Given the description of an element on the screen output the (x, y) to click on. 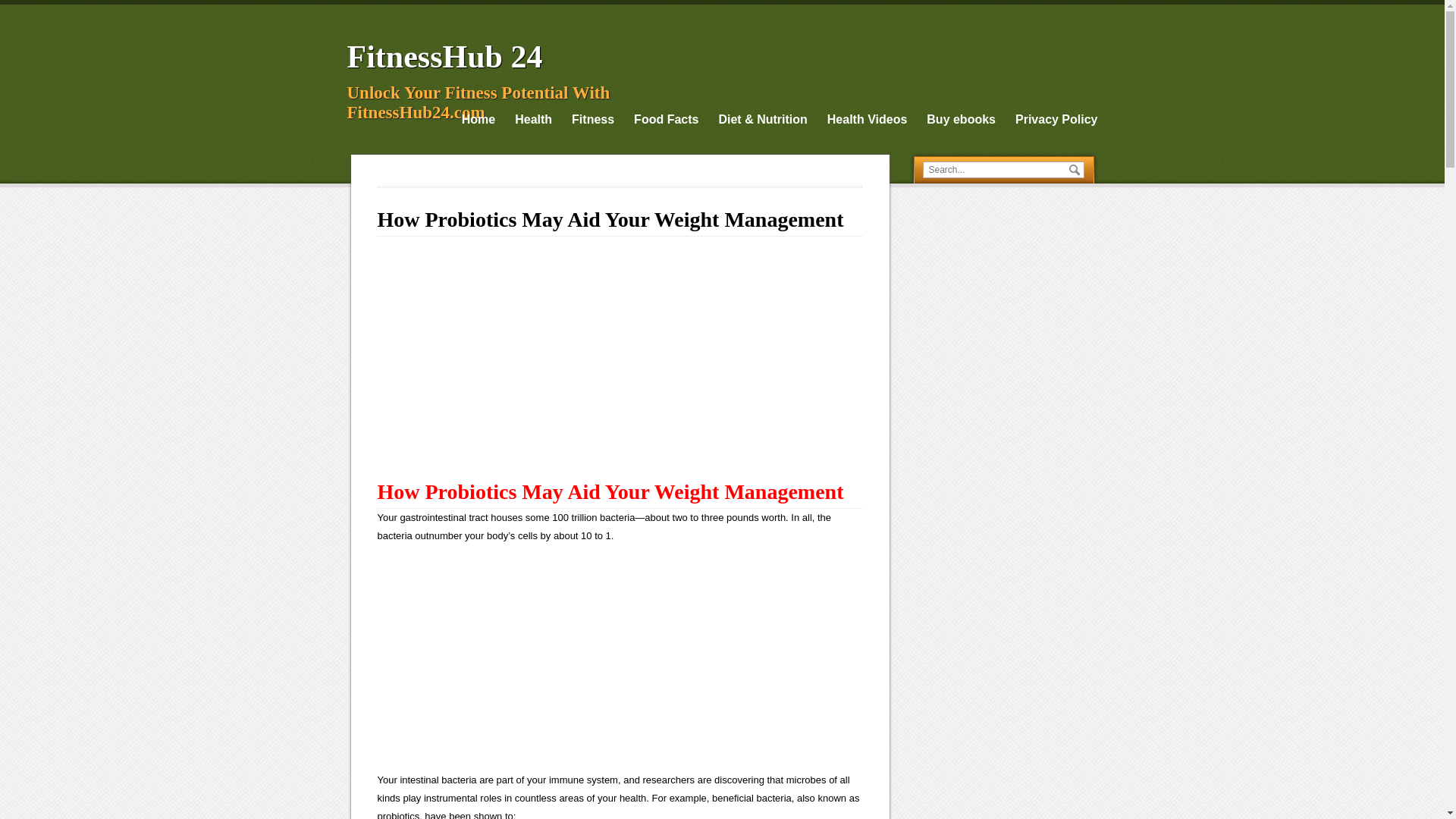
Fitness (593, 119)
Health (533, 119)
Health Videos (867, 119)
Buy ebooks (960, 119)
Home (478, 119)
Food Facts (665, 119)
Advertisement (620, 664)
FitnessHub 24 (445, 56)
Privacy Policy (1055, 119)
Advertisement (620, 354)
